Given the description of an element on the screen output the (x, y) to click on. 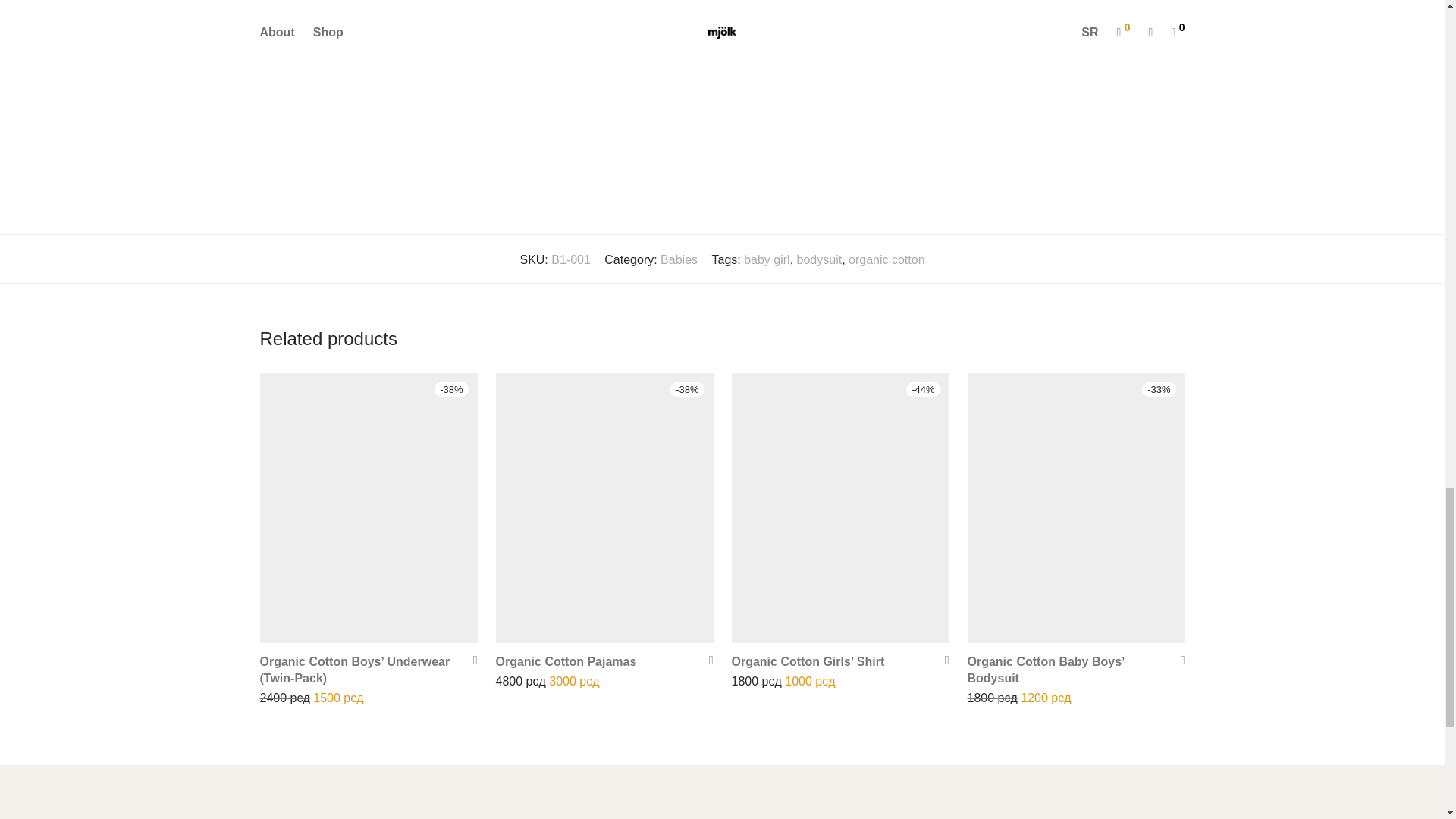
bodysuit (819, 259)
organic cotton (886, 259)
Add to Wishlist (1177, 659)
baby girl (766, 259)
Organic Cotton Pajamas (566, 661)
Add to Wishlist (470, 659)
Add to Wishlist (705, 659)
Babies (679, 259)
Add to Wishlist (941, 659)
